Given the description of an element on the screen output the (x, y) to click on. 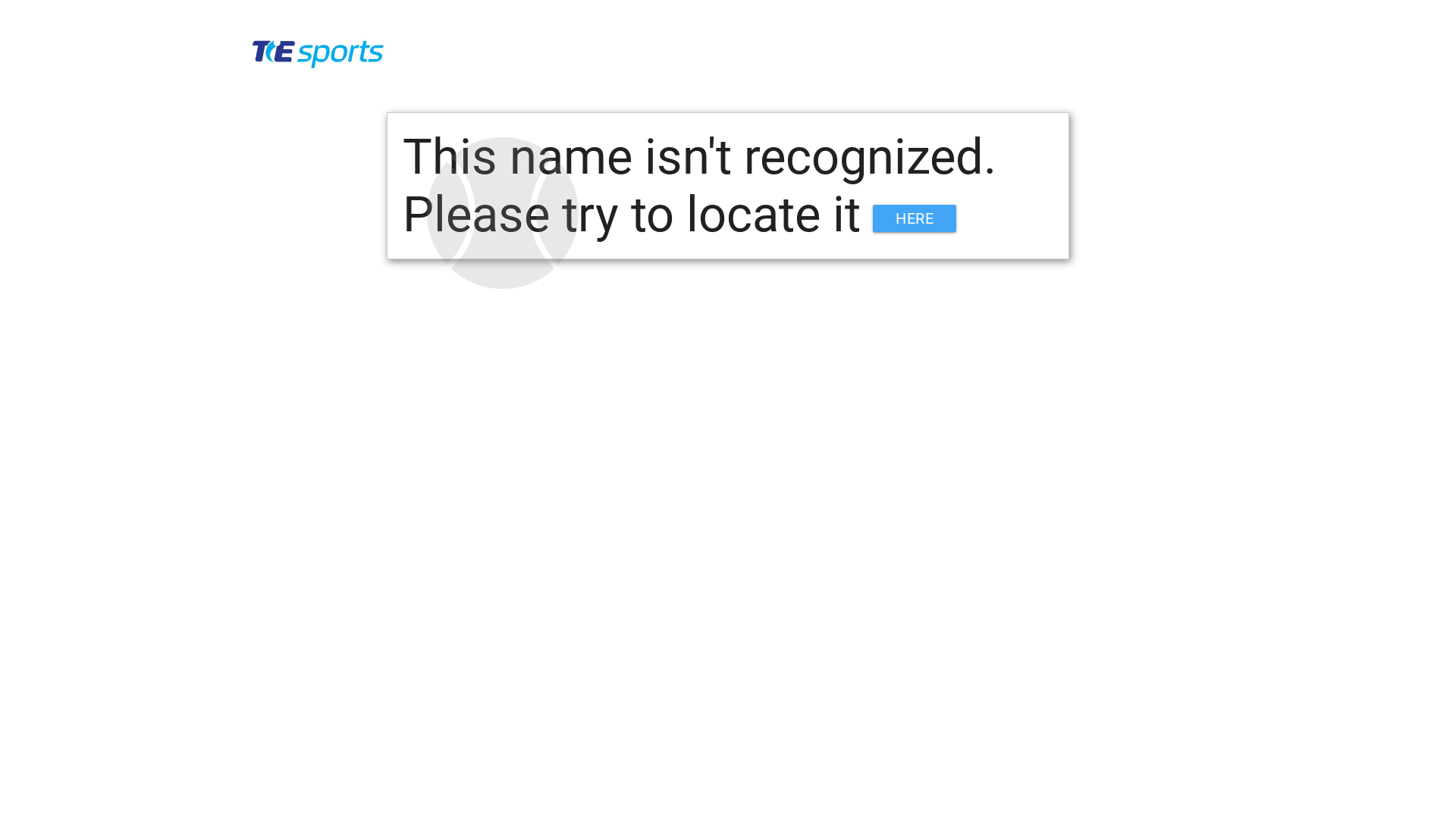
HERE Element type: text (914, 218)
